Given the description of an element on the screen output the (x, y) to click on. 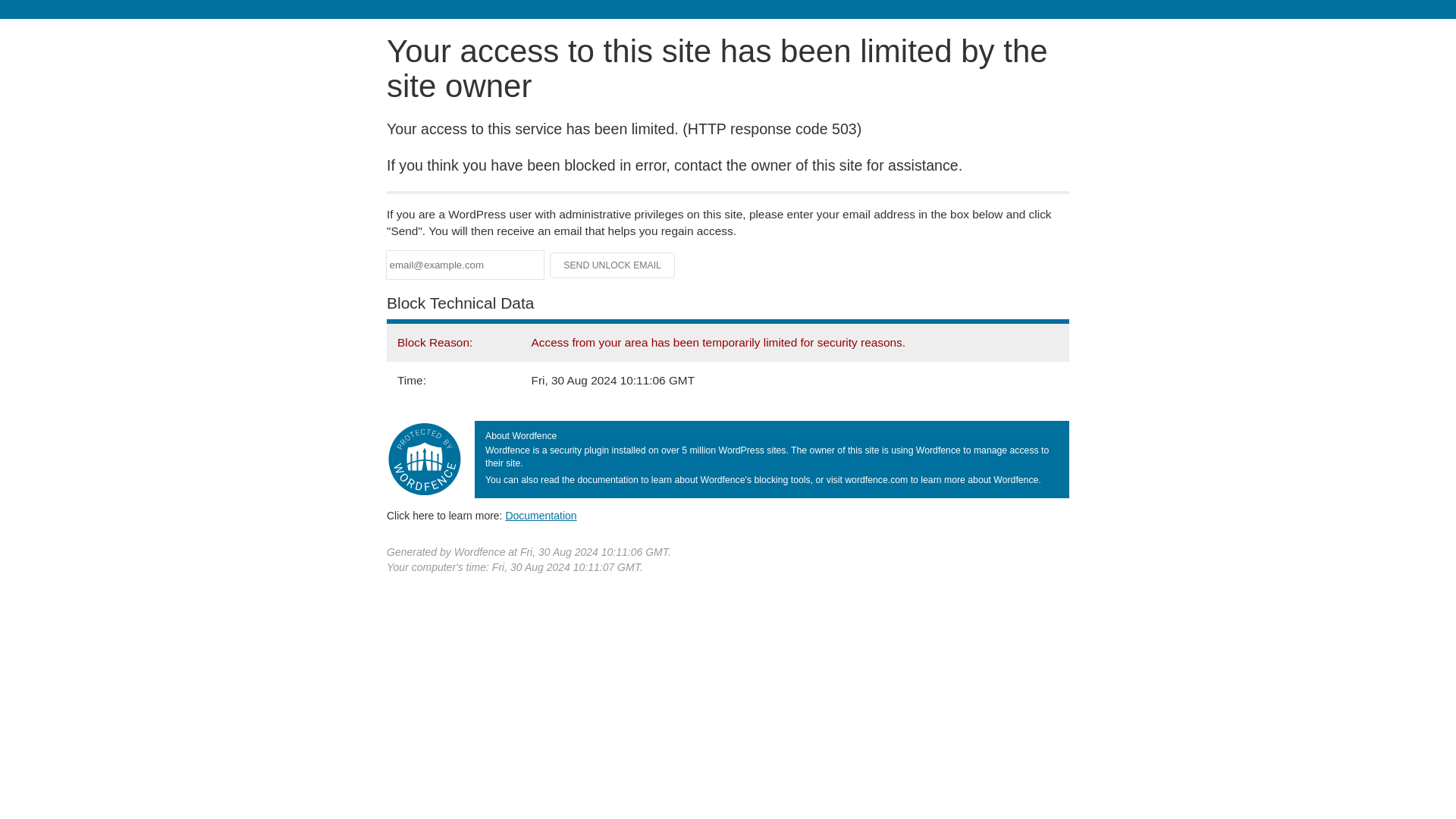
Send Unlock Email (612, 265)
Send Unlock Email (612, 265)
Documentation (540, 515)
